Given the description of an element on the screen output the (x, y) to click on. 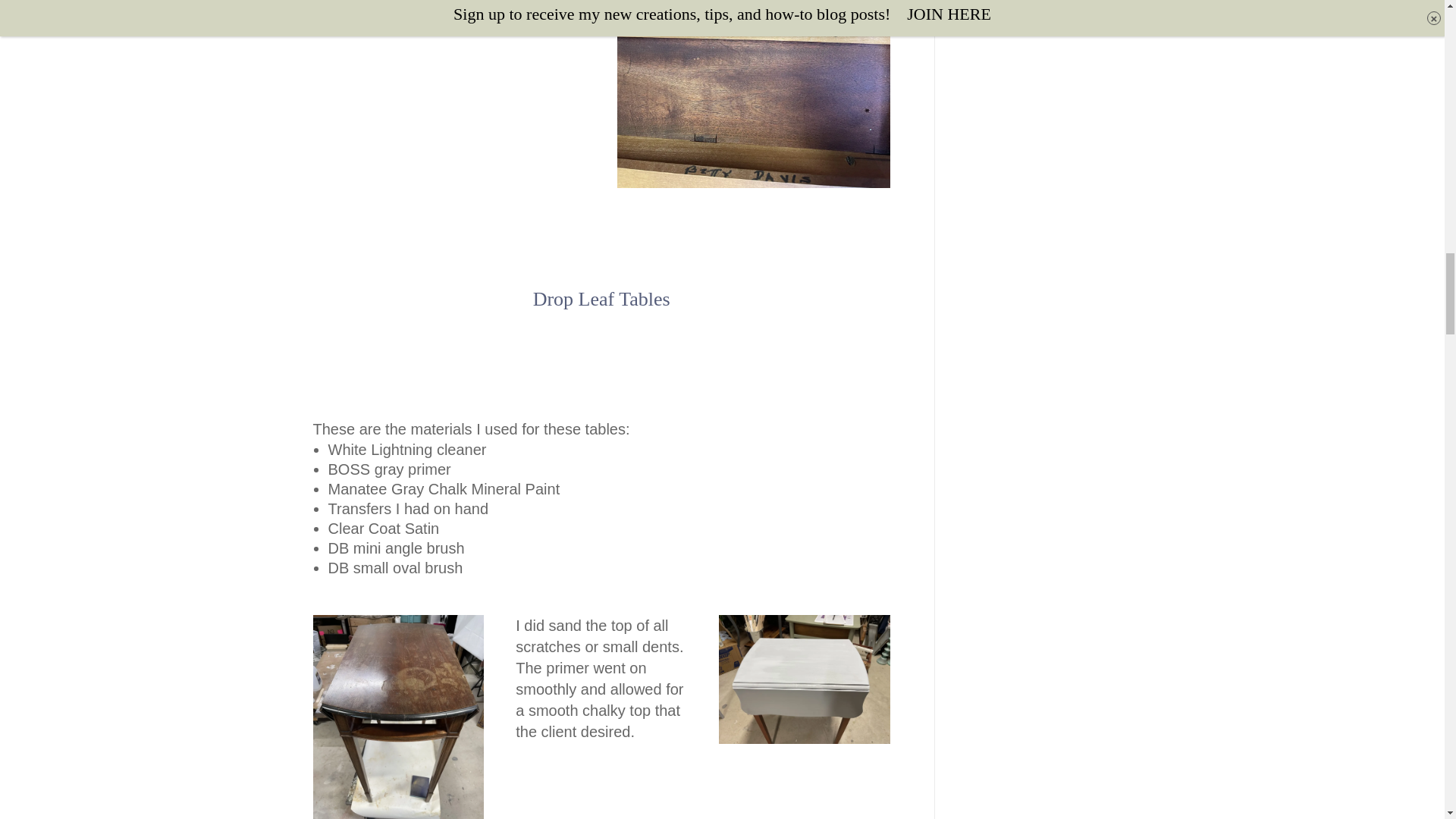
30EC0466-4764-4C21-89A1-C248BDB7B5AF (753, 94)
FA63450D-A0C1-433F-AE76-0A873AD36EB1 (804, 678)
BDB4F048-840A-4968-8D7C-361F7D658796 (398, 717)
CB457ECA-33A6-48ED-A8CC-13C58A0F6B48 (449, 14)
